Given the description of an element on the screen output the (x, y) to click on. 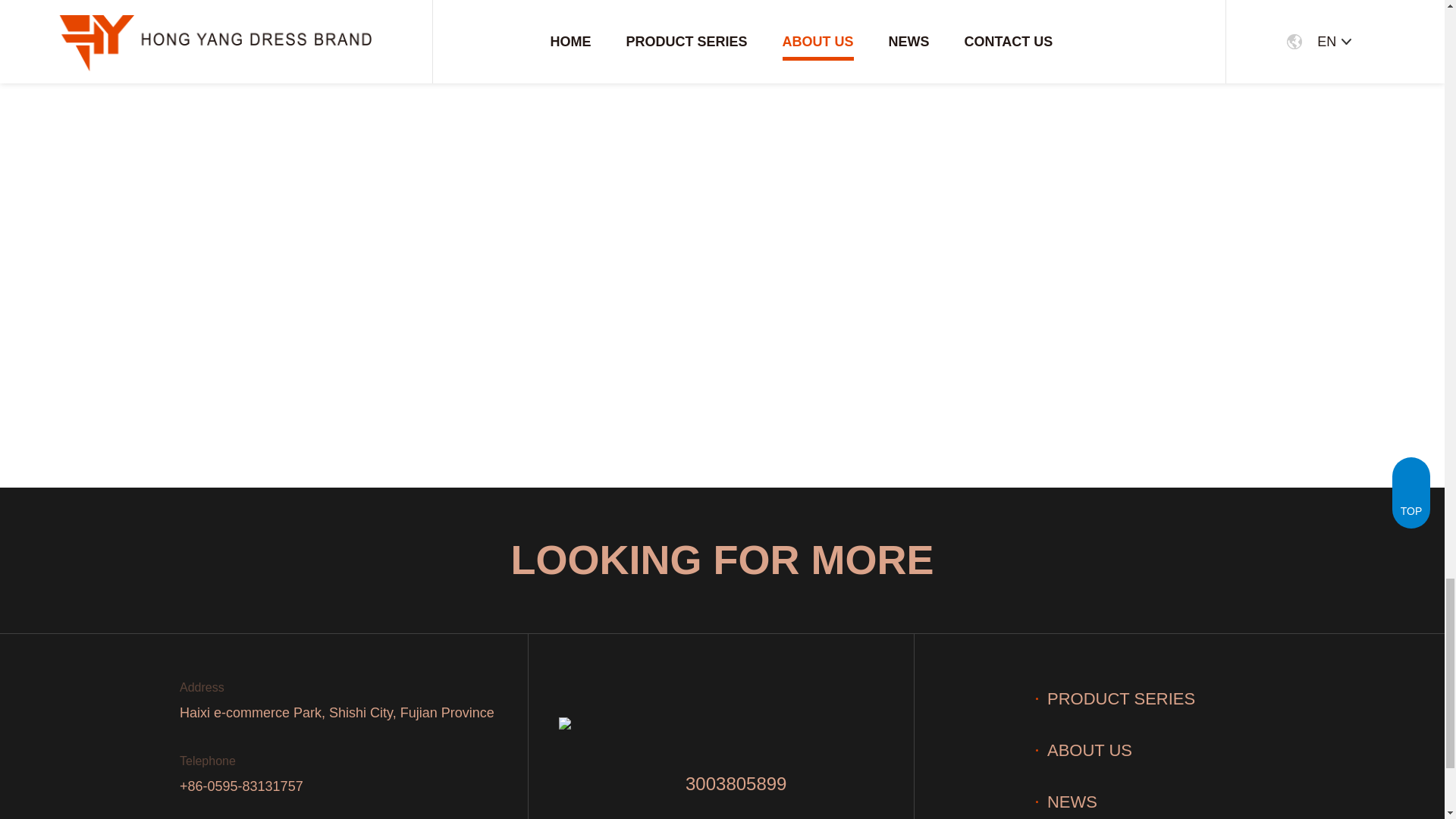
ABOUT US (1083, 750)
NEWS (1066, 801)
PRODUCT SERIES (1115, 698)
